Given the description of an element on the screen output the (x, y) to click on. 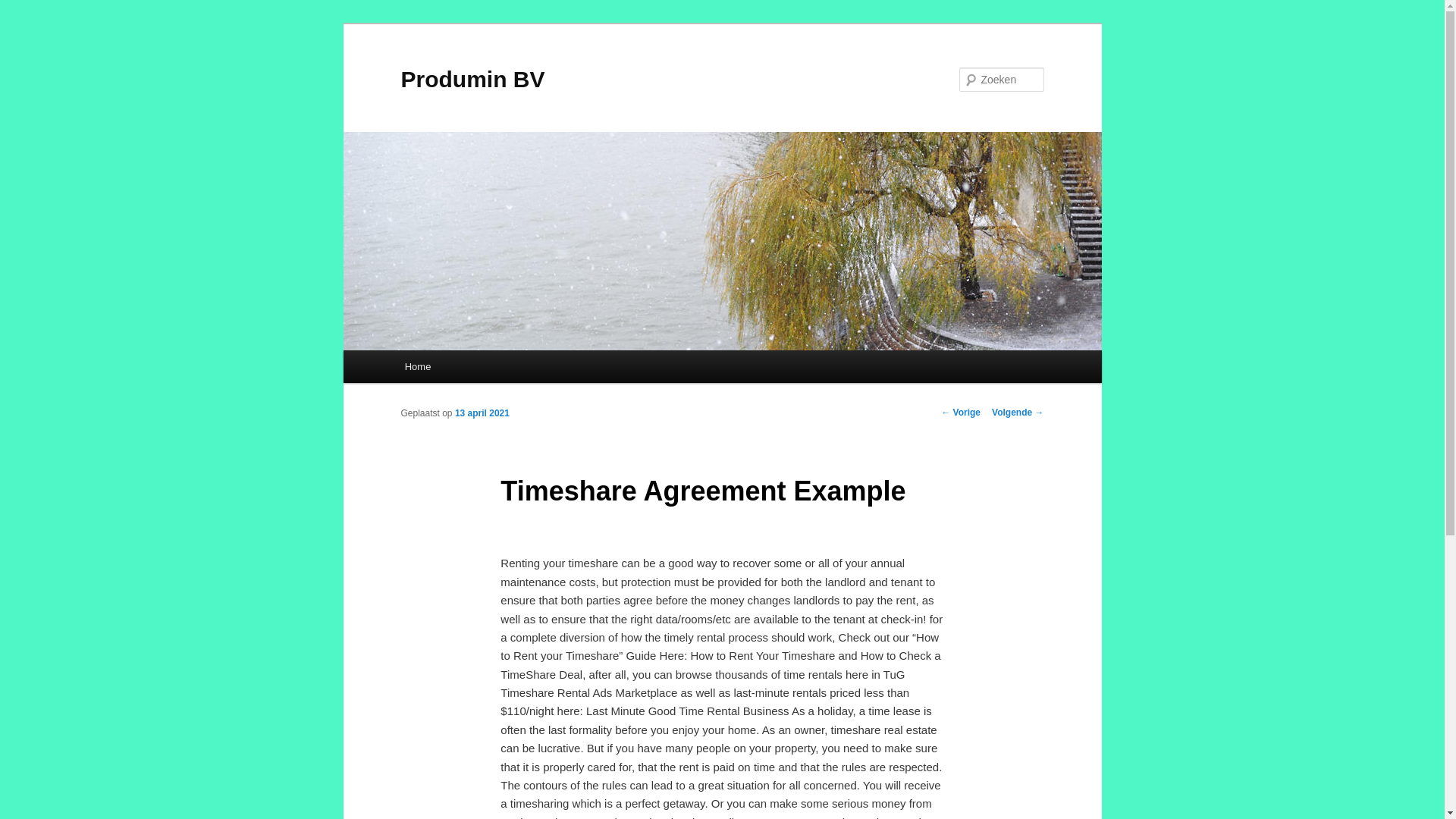
Produmin BV (472, 78)
Zoeken (24, 8)
11:05 (481, 412)
13 april 2021 (481, 412)
Home (417, 366)
